Given the description of an element on the screen output the (x, y) to click on. 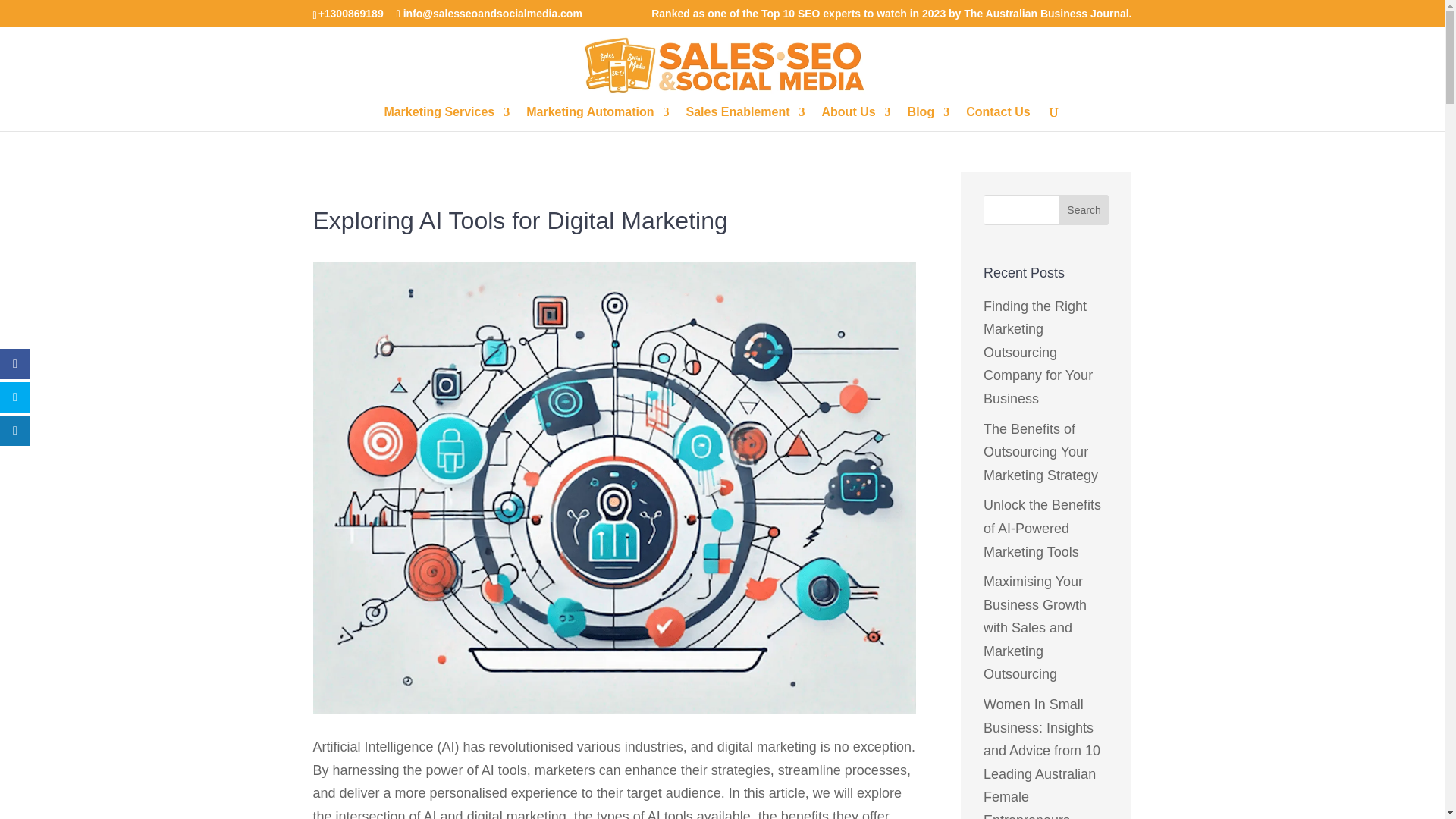
Marketing Automation (596, 119)
Sales Enablement (745, 119)
Marketing Services (446, 119)
Search (1084, 209)
Blog (928, 119)
Contact Us (997, 119)
About Us (856, 119)
